Given the description of an element on the screen output the (x, y) to click on. 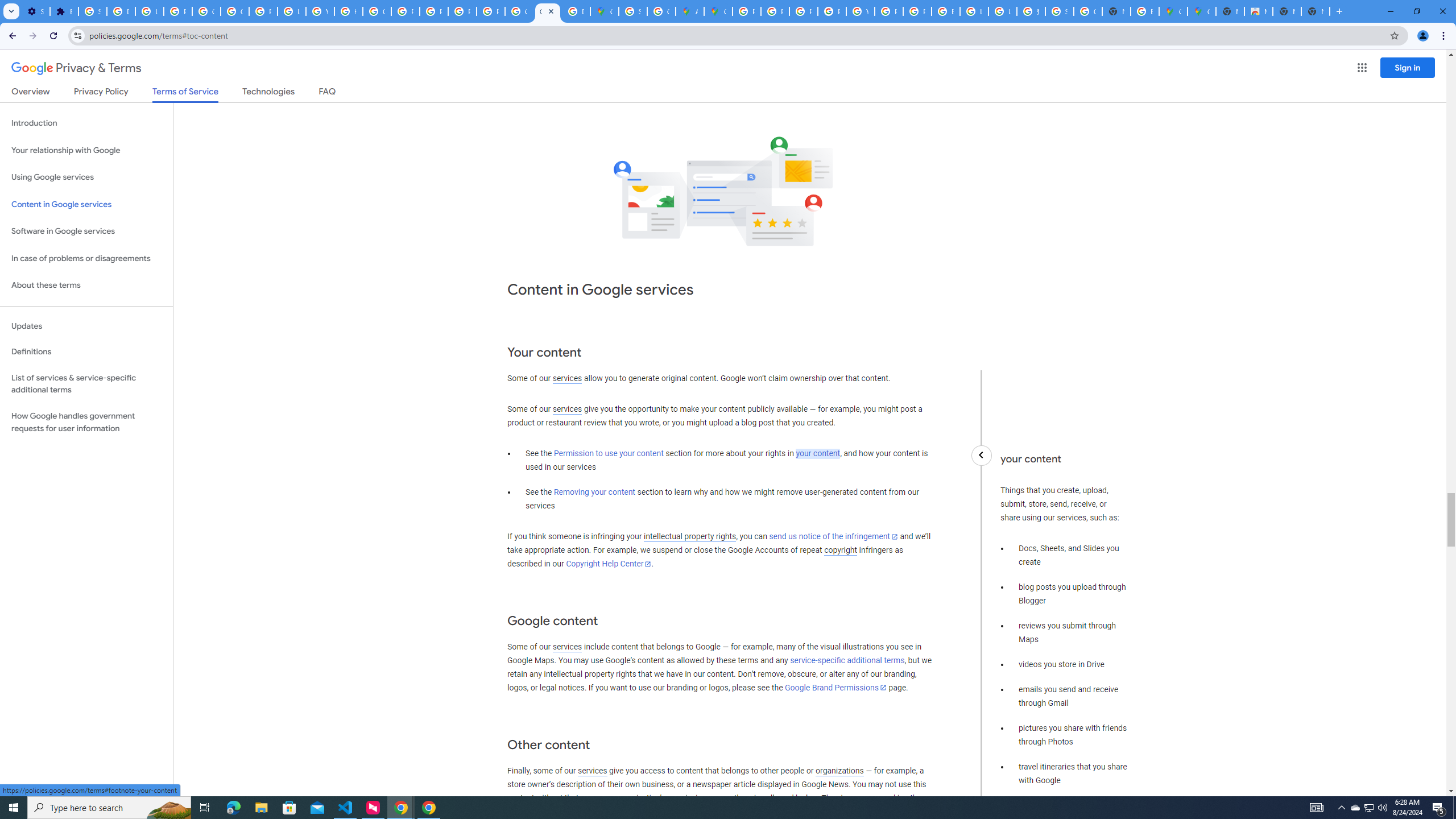
Create your Google Account (661, 11)
Google Maps (718, 11)
